Given the description of an element on the screen output the (x, y) to click on. 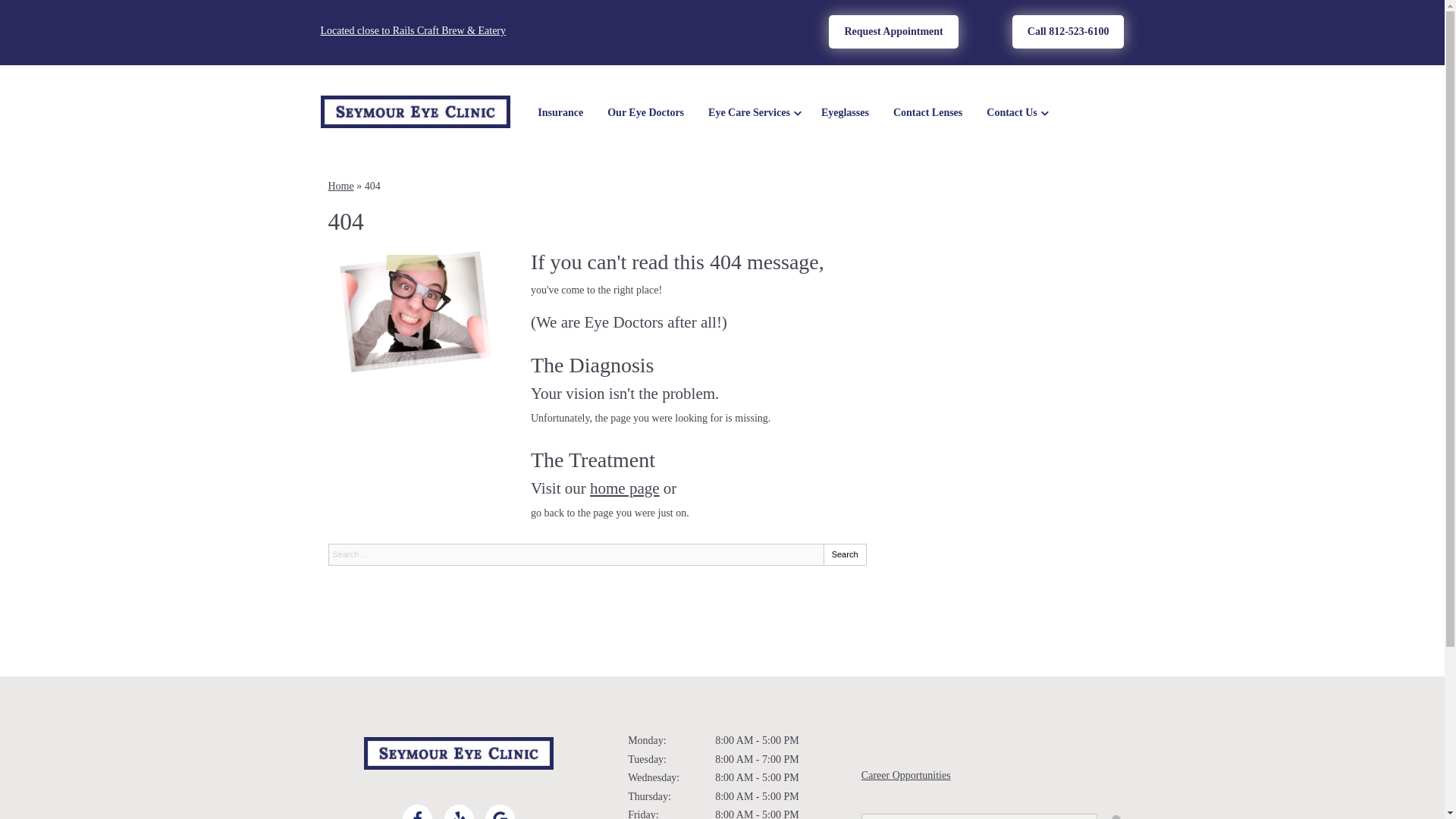
Speak Field (979, 816)
Eyeglasses (844, 113)
Request Appointment (893, 31)
Contact Lenses (927, 113)
Our Eye Doctors (645, 113)
Call 812-523-6100 (1067, 31)
Eye Care Services (752, 113)
Contact Us (1015, 113)
Insurance (560, 113)
